Given the description of an element on the screen output the (x, y) to click on. 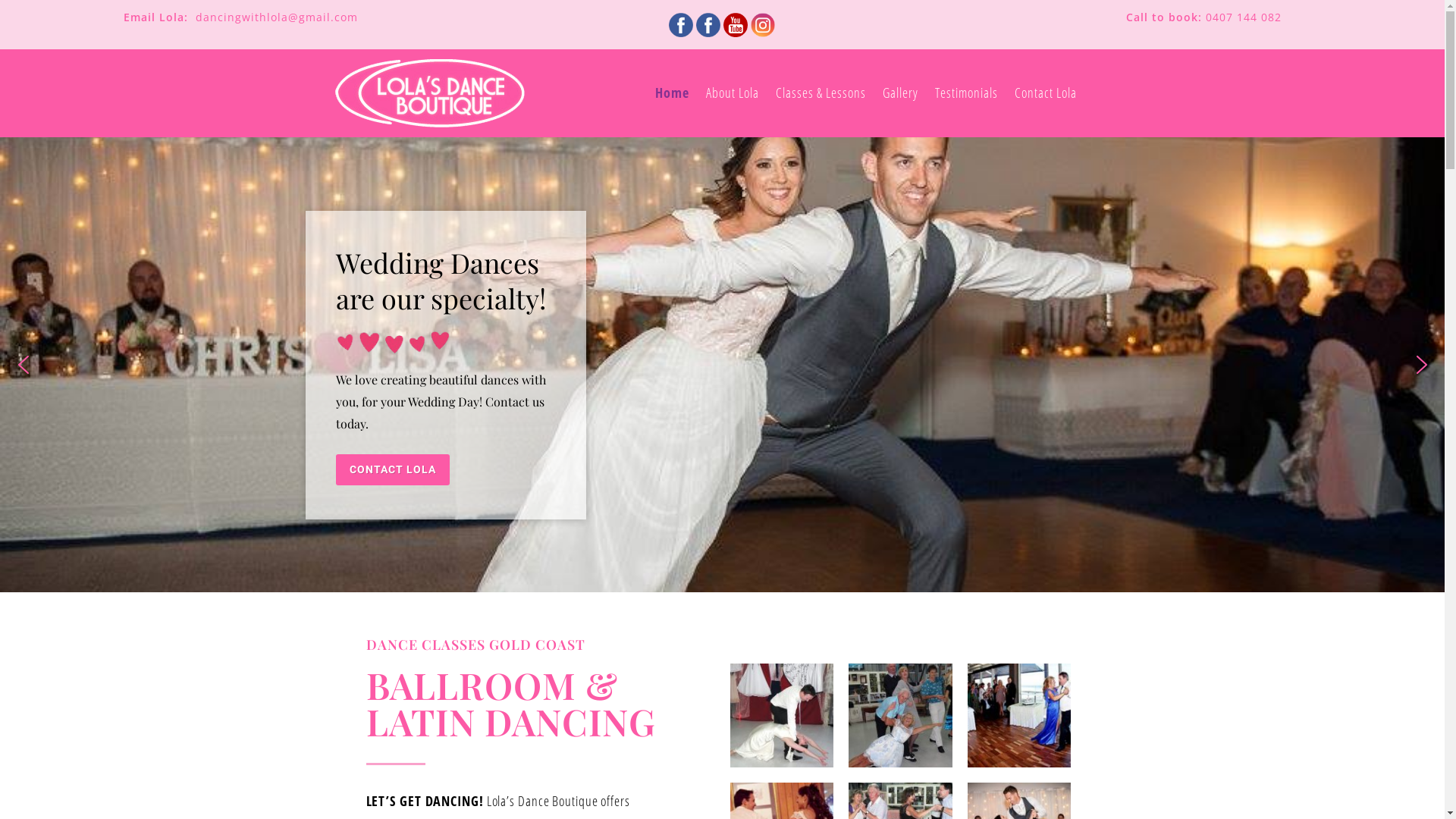
Testimonials Element type: text (966, 93)
Wedding Dances with Lola Element type: hover (680, 24)
Classes & Lessons Element type: text (820, 93)
Email Lola:  dancingwithlola@gmail.com Element type: text (240, 16)
Instagram Element type: hover (762, 24)
Home Element type: text (672, 93)
Call to book: 0407 144 082 Element type: text (1203, 16)
Wedding Dances with Lola Element type: hover (680, 22)
Lola\'s Dance Boutique Element type: hover (708, 24)
Instagram Element type: hover (762, 22)
Gallery Element type: text (900, 93)
Lola\'s Dance Boutique Element type: hover (707, 22)
Contact Lola Element type: text (1045, 93)
CONTACT LOLA Element type: text (391, 469)
YouTube Element type: hover (735, 22)
YouTube Element type: hover (735, 24)
About Lola Element type: text (732, 93)
